Given the description of an element on the screen output the (x, y) to click on. 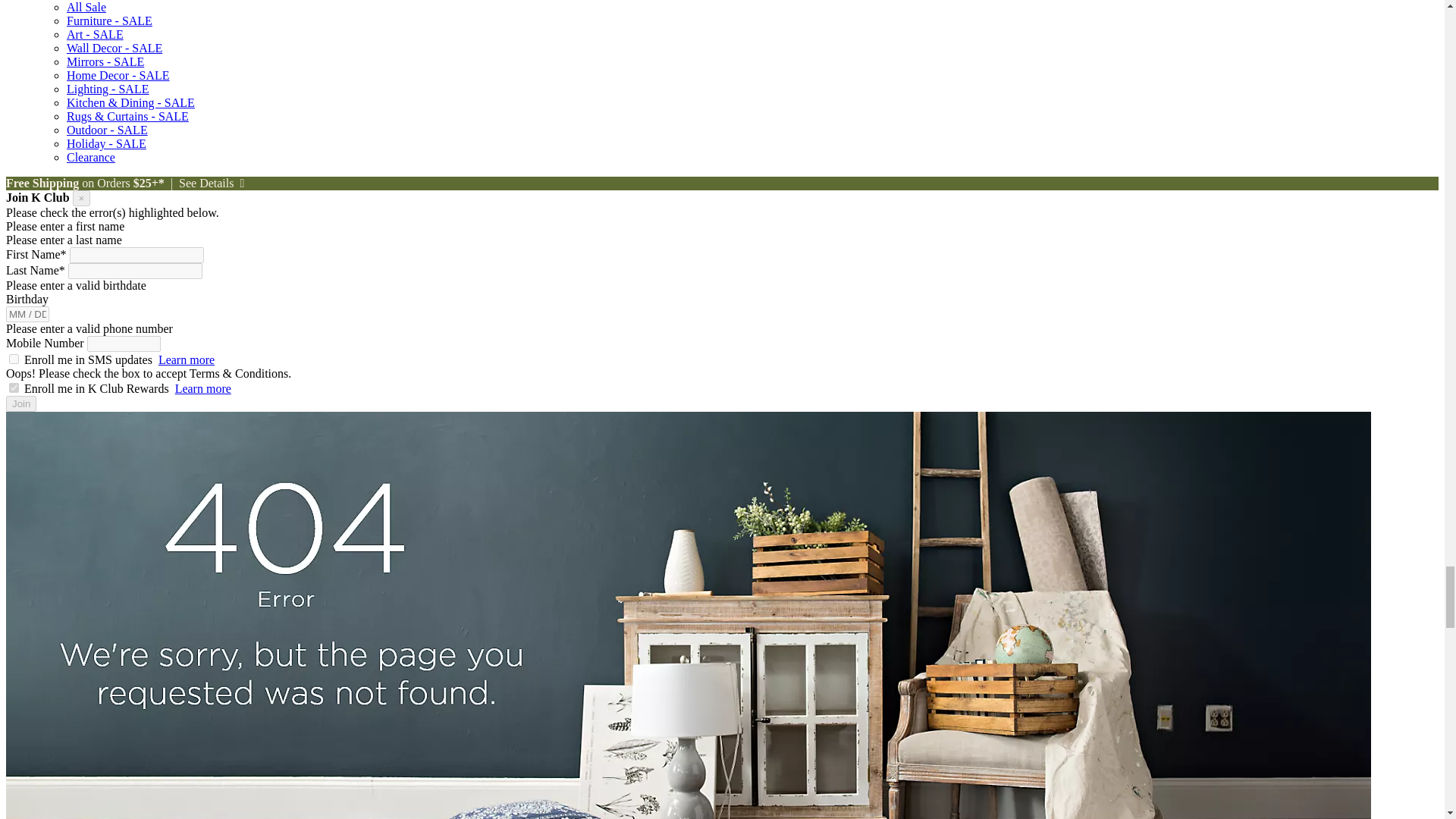
on (13, 358)
true (13, 388)
